Given the description of an element on the screen output the (x, y) to click on. 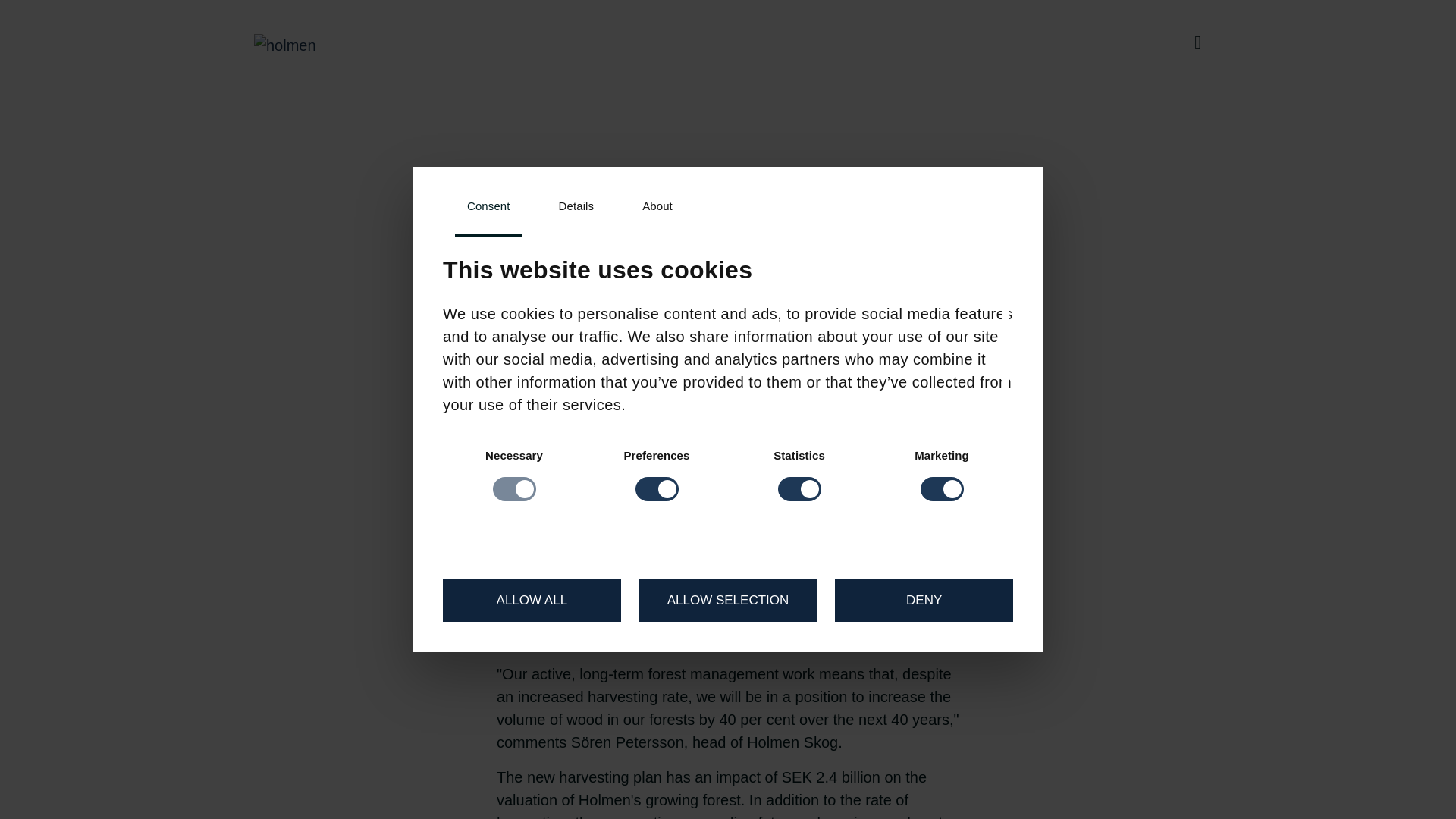
Details (577, 207)
About (657, 207)
Consent (488, 207)
